Given the description of an element on the screen output the (x, y) to click on. 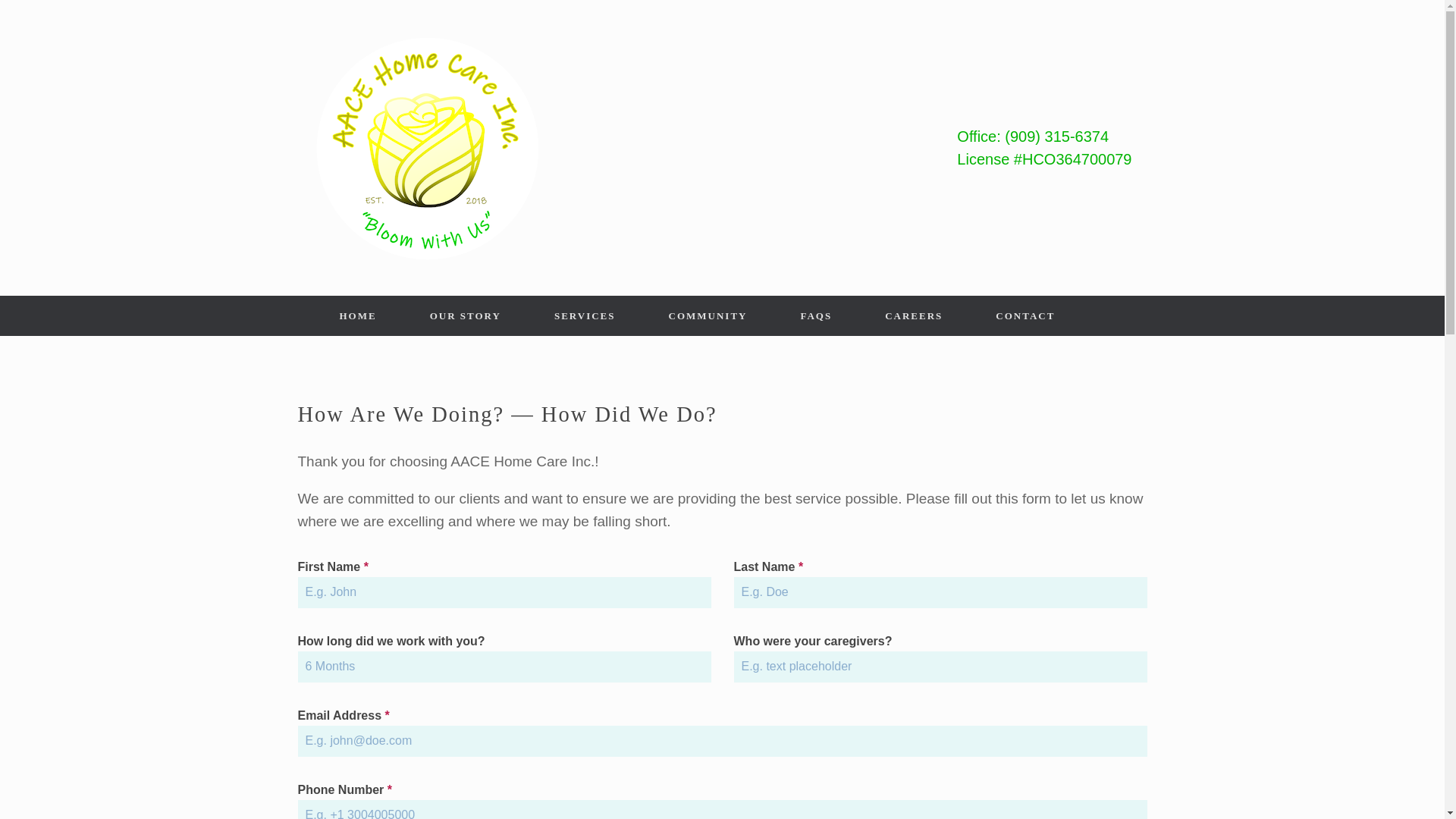
CAREERS (914, 315)
HOME (358, 315)
OUR STORY (465, 315)
COMMUNITY (707, 315)
AACE Home Care, Inc. (426, 147)
CONTACT (1025, 315)
SERVICES (584, 315)
FAQS (816, 315)
